Given the description of an element on the screen output the (x, y) to click on. 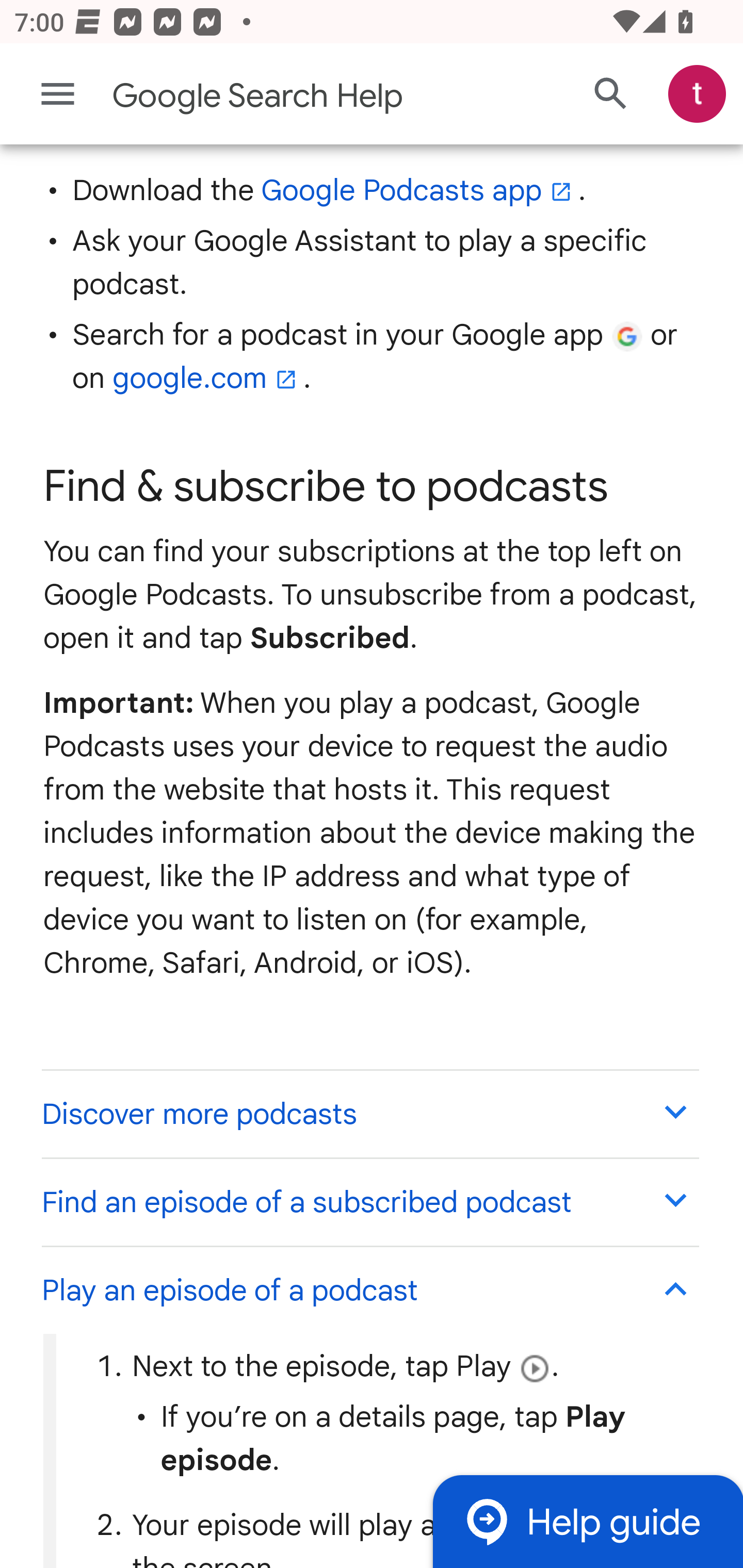
Main menu (58, 93)
Google Search Help (292, 96)
Search Help Center (611, 94)
Google Podcasts app (419, 190)
google.com (207, 377)
Discover more podcasts (369, 1113)
Find an episode of a subscribed podcast (369, 1201)
Play an episode of a podcast (369, 1289)
Help guide (587, 1520)
